Given the description of an element on the screen output the (x, y) to click on. 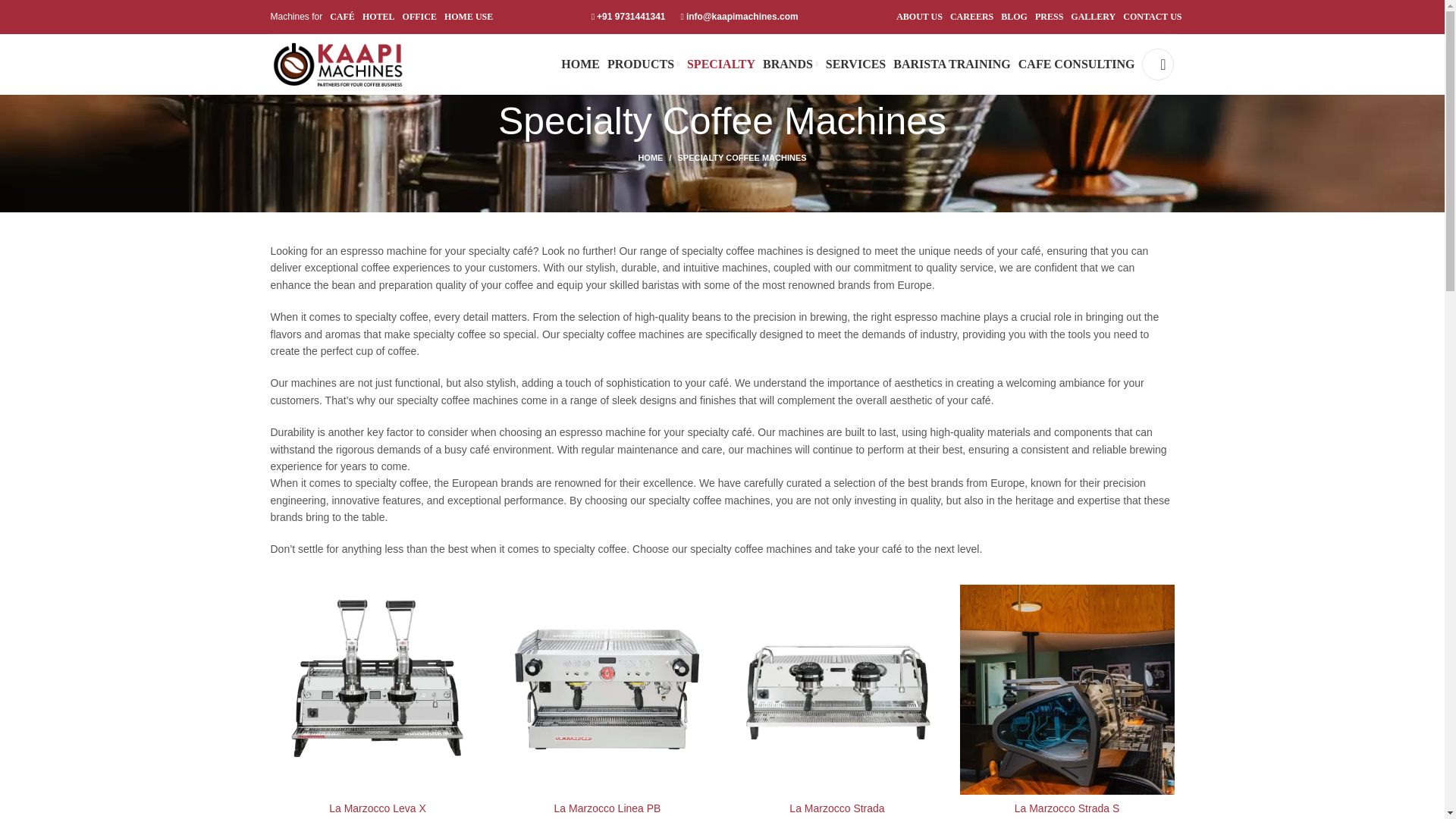
PRESS (1048, 16)
OFFICE (419, 16)
GALLERY (1092, 16)
SERVICES (855, 64)
BARISTA TRAINING (951, 64)
CAFE CONSULTING (1076, 64)
ABOUT US (919, 16)
SPECIALTY (721, 64)
BRANDS (790, 64)
CONTACT US (1151, 16)
HOME USE (468, 16)
Search (1157, 64)
HOTEL (378, 16)
CAREERS (971, 16)
PRODUCTS (643, 64)
